Given the description of an element on the screen output the (x, y) to click on. 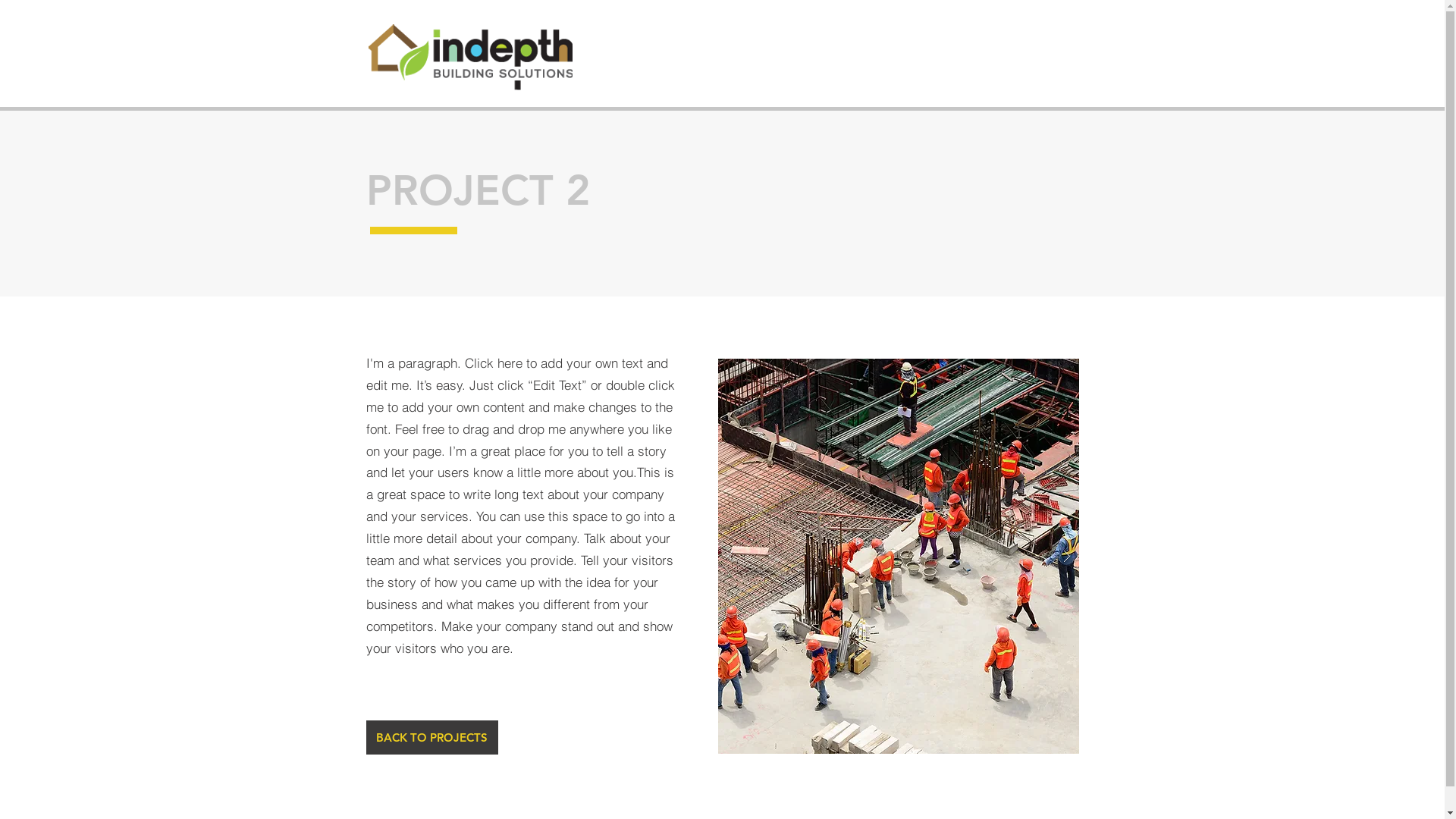
BACK TO PROJECTS Element type: text (431, 737)
indepth-web-logo.png Element type: hover (470, 57)
